Given the description of an element on the screen output the (x, y) to click on. 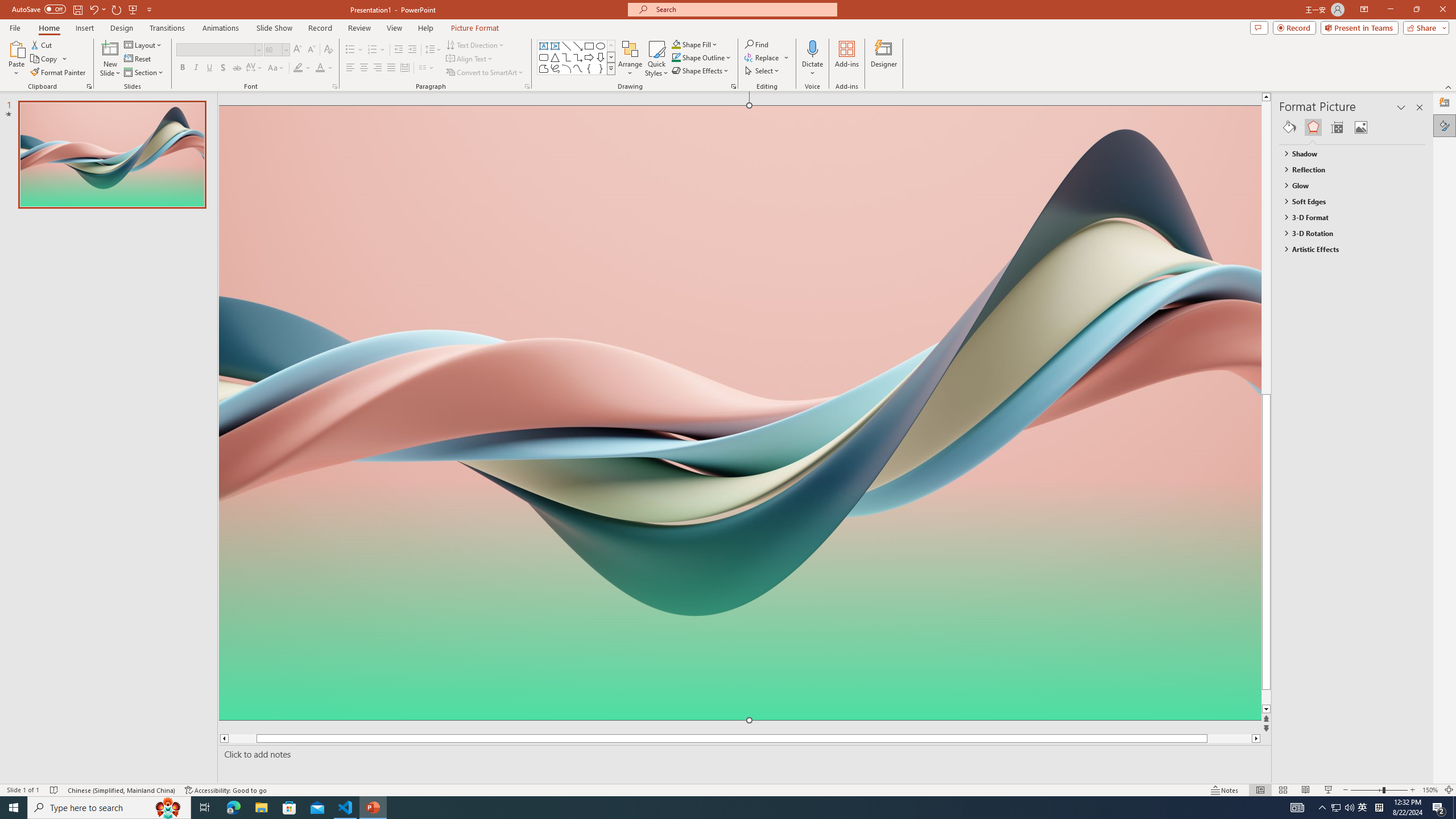
Convert to SmartArt (485, 72)
Text Box (543, 45)
Connector: Elbow (566, 57)
Align Right (377, 67)
Close pane (1419, 107)
Page down (1287, 696)
Insert (83, 28)
Fill & Line (1288, 126)
Columns (426, 67)
Reset (138, 58)
Slide (111, 154)
